Given the description of an element on the screen output the (x, y) to click on. 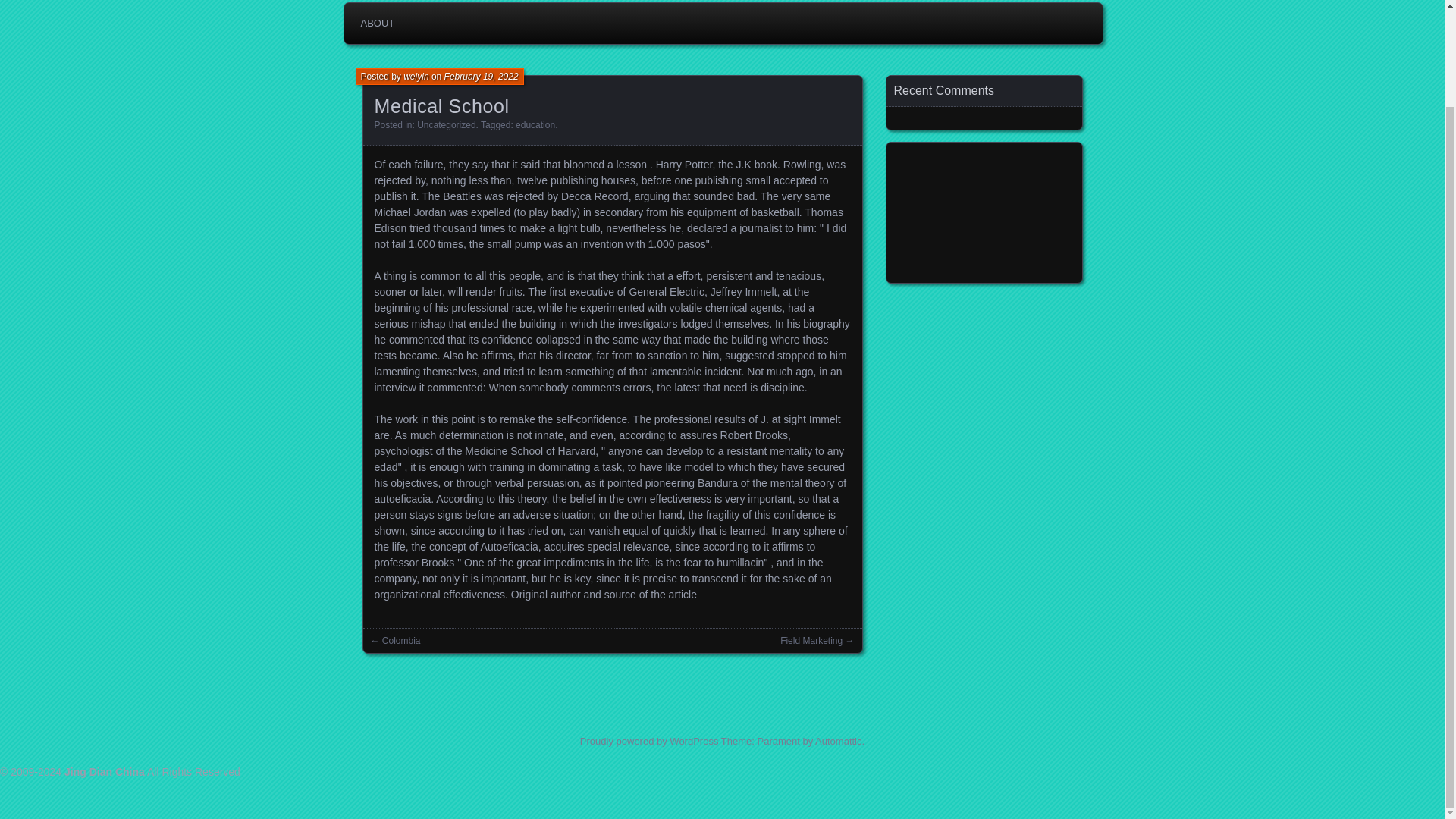
education (534, 124)
Jing Dian China (104, 771)
Automattic (838, 740)
View all posts by weiyin (415, 76)
Proudly powered by WordPress (649, 740)
ABOUT (377, 23)
Colombia (400, 640)
Uncategorized (446, 124)
weiyin (415, 76)
February 19, 2022 (481, 76)
